Given the description of an element on the screen output the (x, y) to click on. 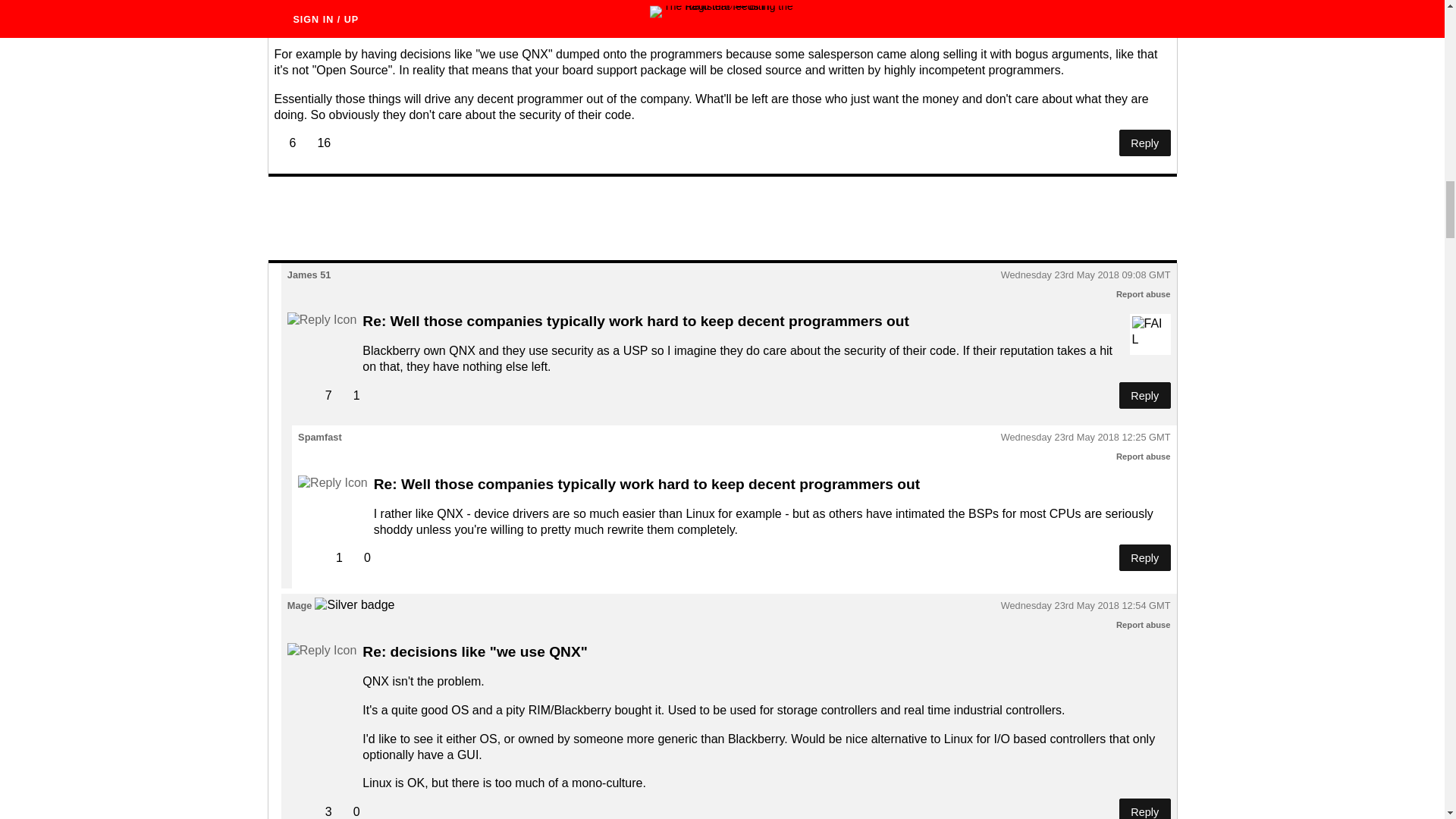
Report abuse (1143, 293)
Report abuse (1143, 624)
Report abuse (1143, 456)
Report abuse (1143, 1)
